Given the description of an element on the screen output the (x, y) to click on. 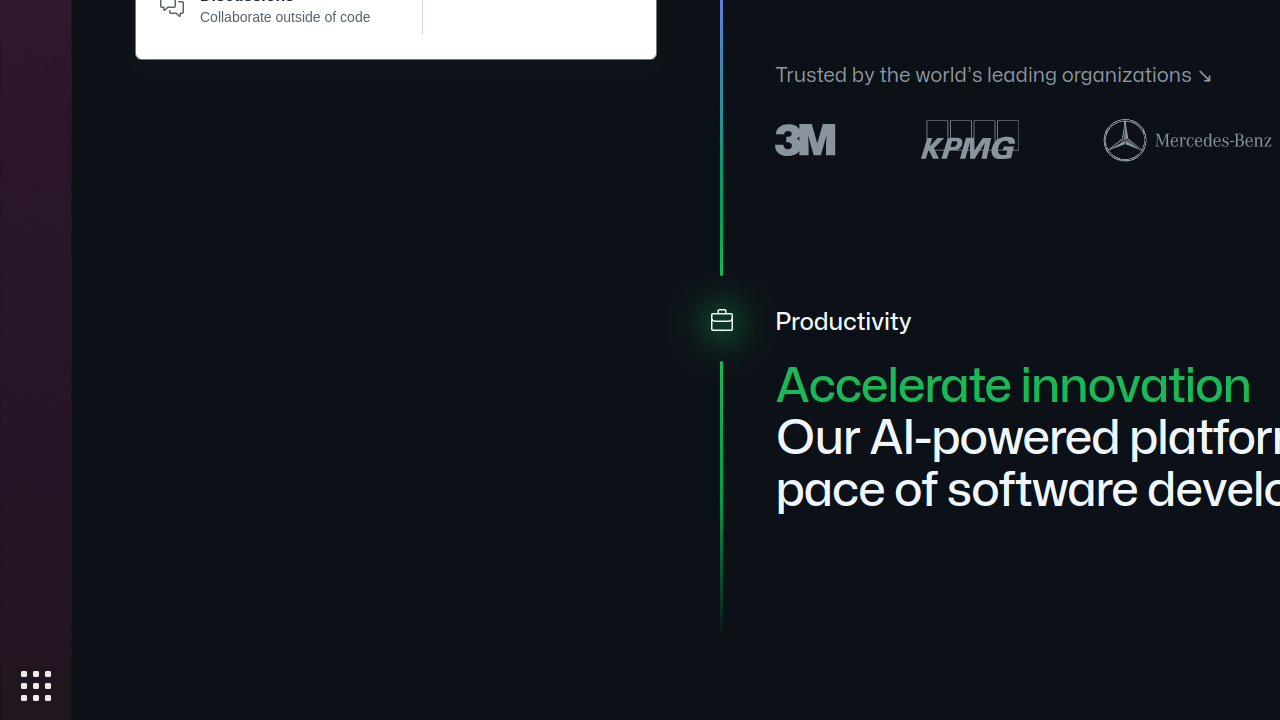
Show Applications Element type: toggle-button (36, 686)
